Given the description of an element on the screen output the (x, y) to click on. 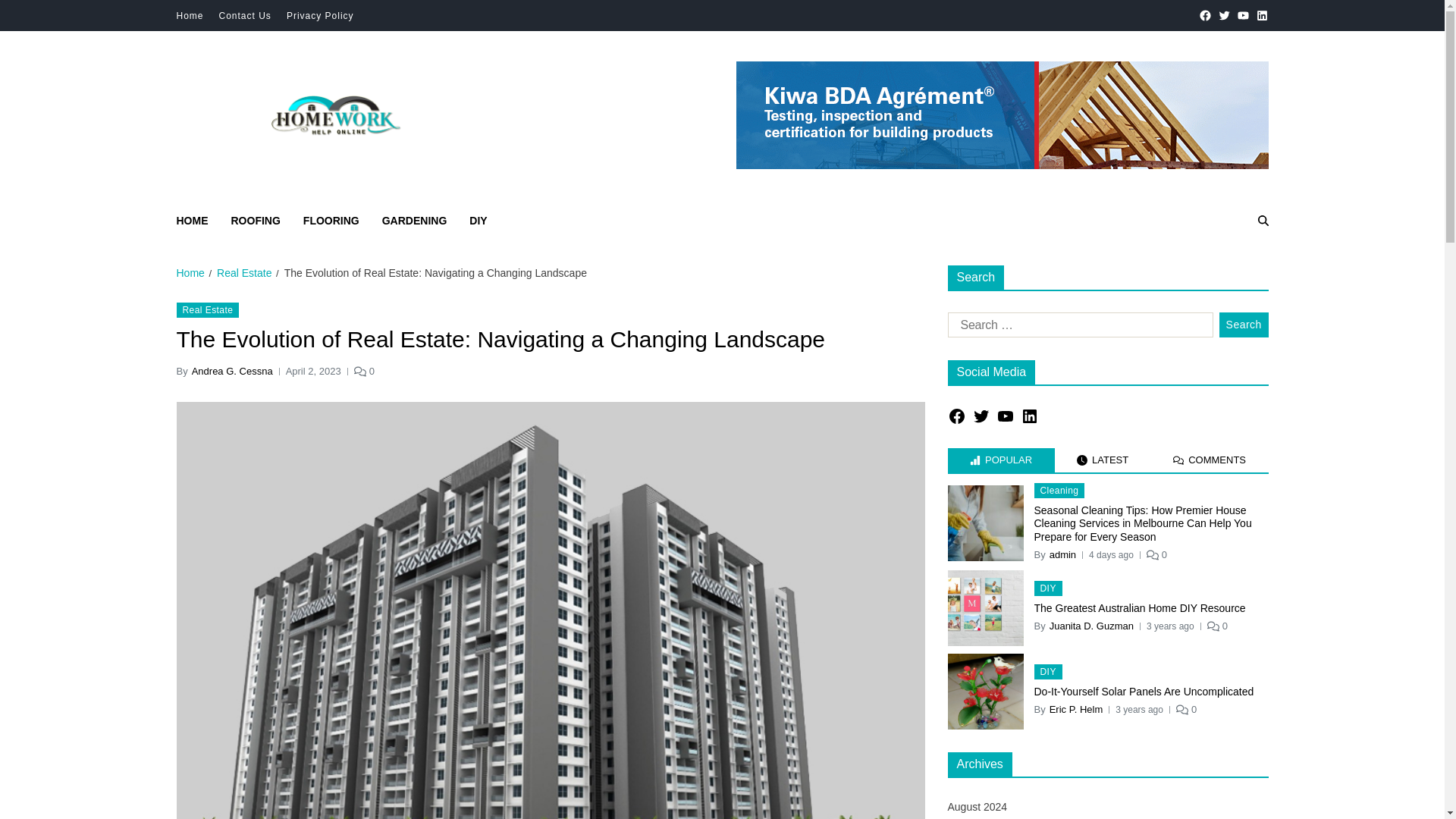
Search (1227, 273)
Home (189, 272)
Privacy Policy (319, 15)
Home (189, 15)
Andrea G. Cessna (232, 371)
Search (1244, 325)
LATEST (1102, 459)
FLOORING (330, 220)
Search (1244, 325)
Real Estate (207, 309)
